Given the description of an element on the screen output the (x, y) to click on. 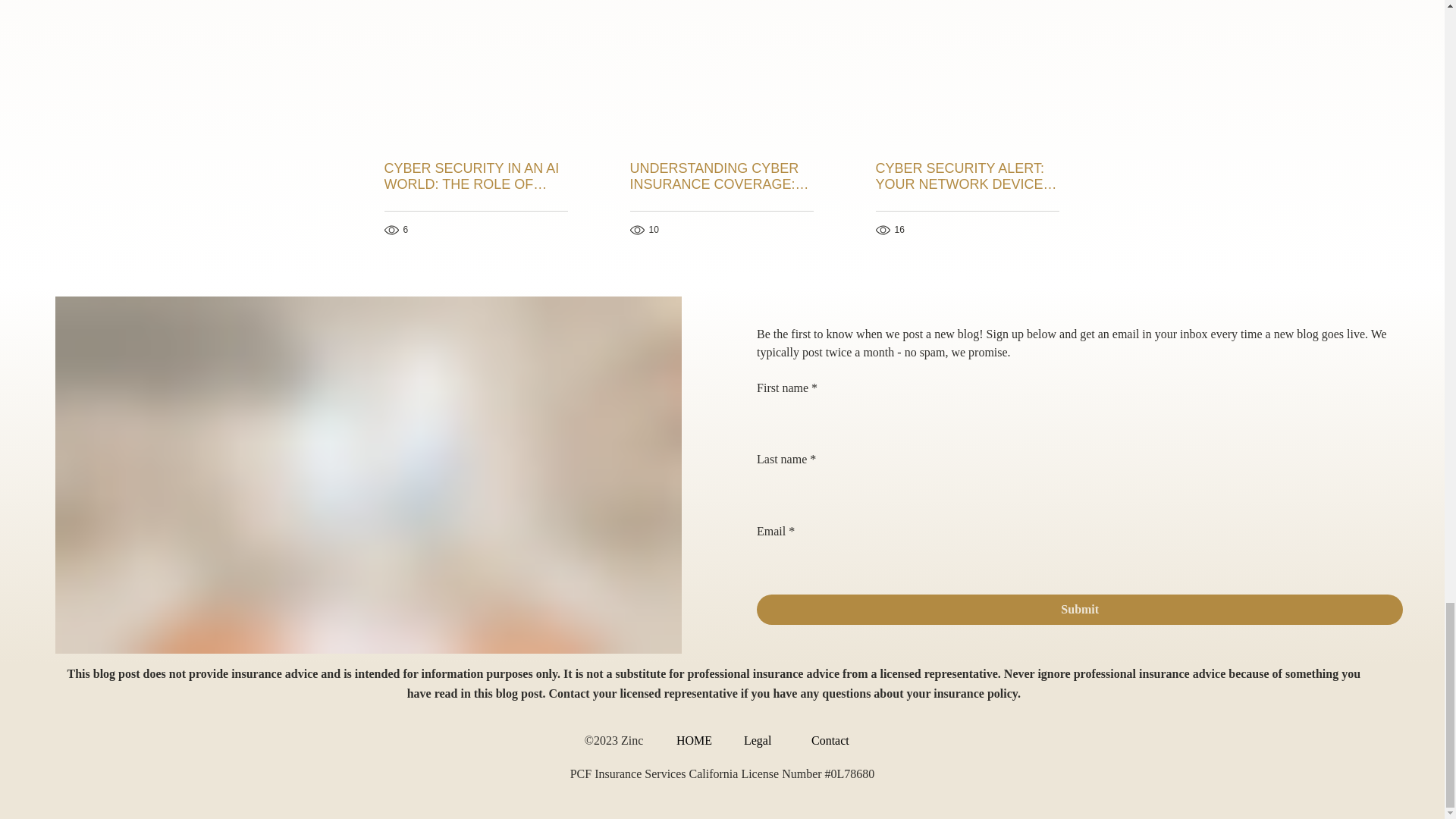
See All (1061, 2)
CYBER SECURITY IN AN AI WORLD: THE ROLE OF INSURANCE (475, 176)
